Given the description of an element on the screen output the (x, y) to click on. 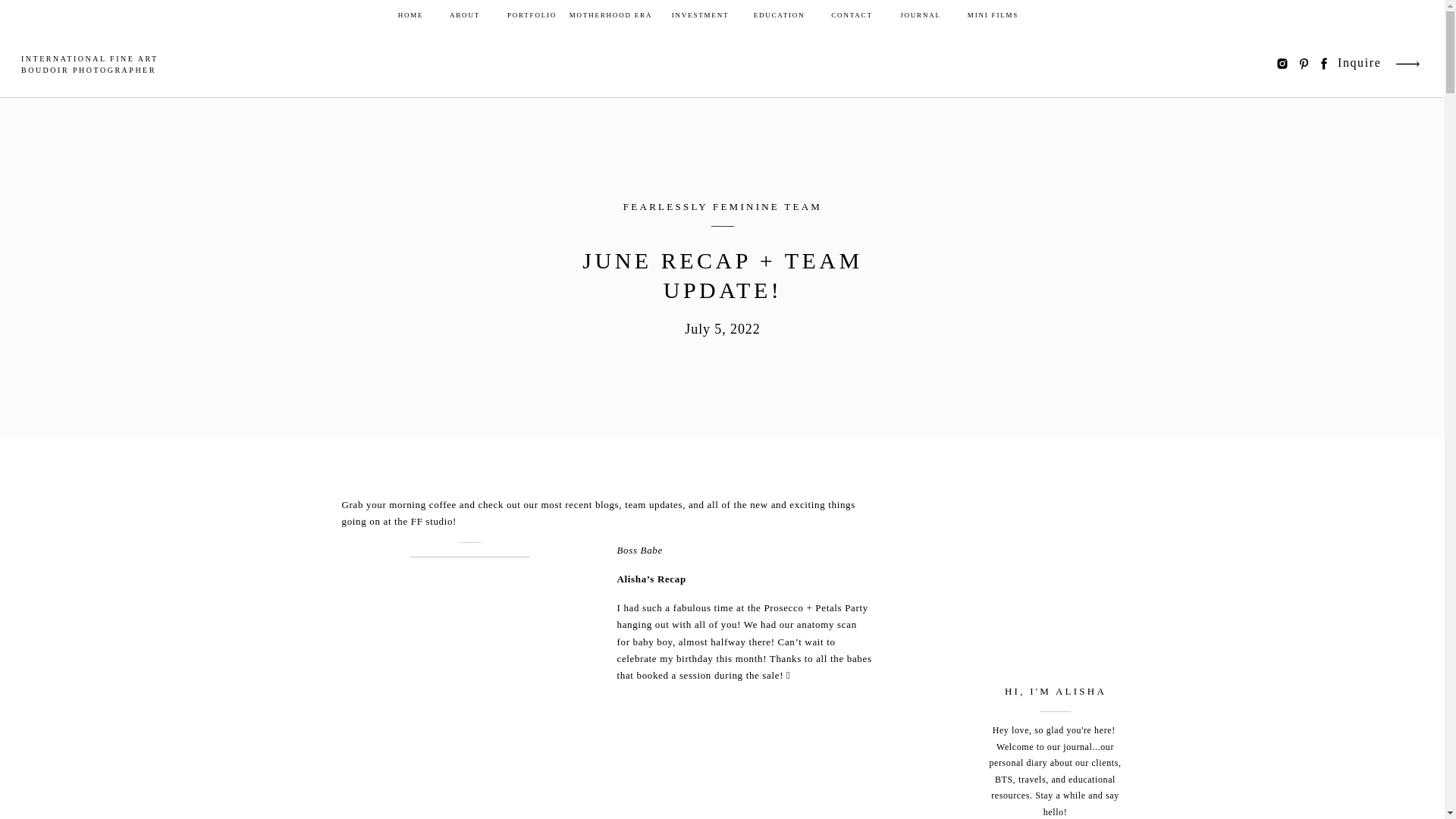
MINI FILMS (991, 15)
HOME (411, 15)
MOTHERHOOD ERA (610, 15)
CONTACT (852, 15)
JOURNAL (919, 15)
Inquire  (1360, 64)
arrow (1407, 63)
EDUCATION (778, 15)
INVESTMENT (699, 15)
FEARLESSLY FEMININE TEAM (722, 206)
